Given the description of an element on the screen output the (x, y) to click on. 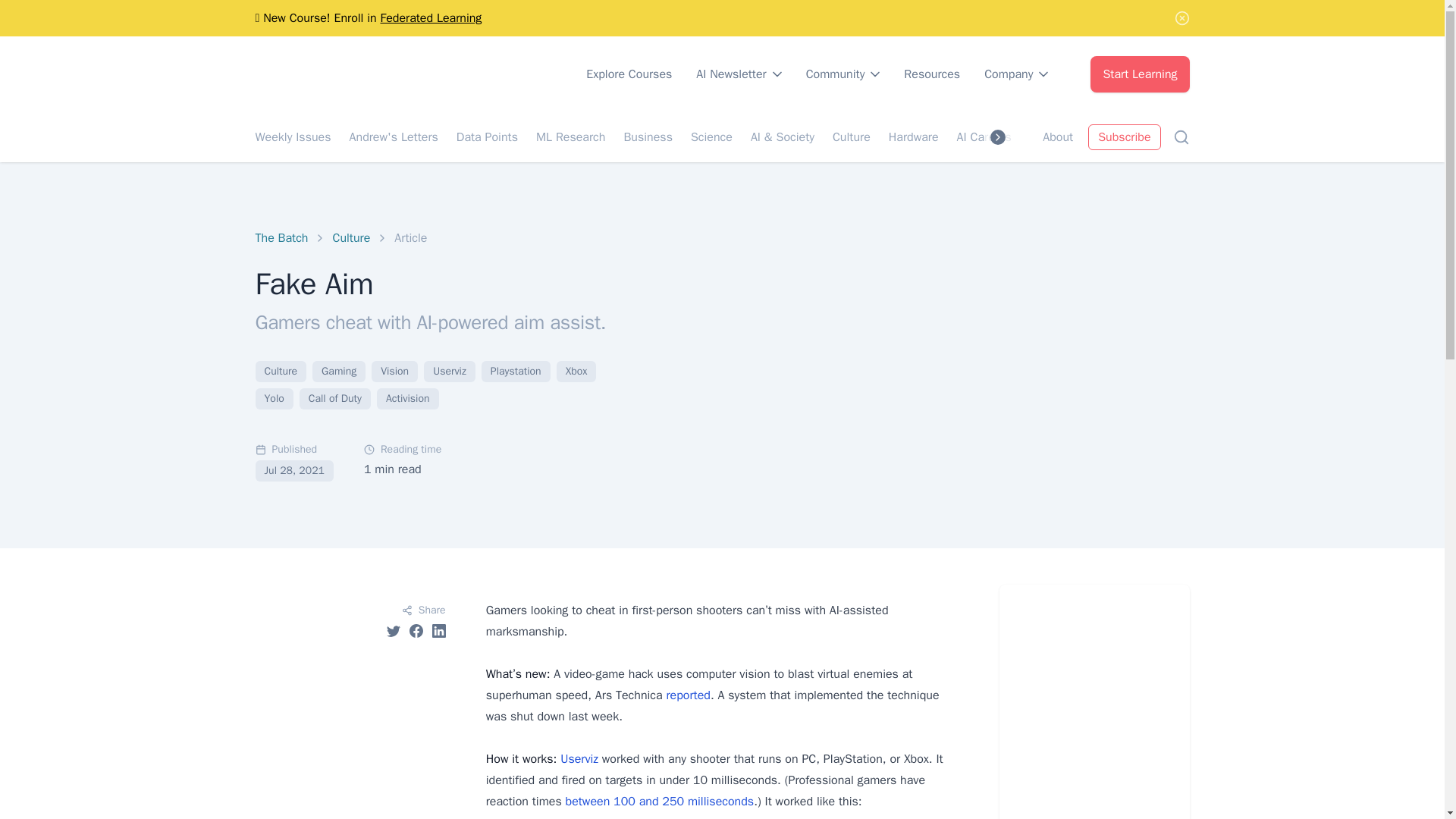
AI Newsletter (738, 74)
Weekly Issues (292, 137)
Andrew's Letters (393, 137)
The Batch (280, 238)
Explore Courses (628, 74)
Hardware (913, 137)
Resources (931, 74)
Search (1180, 136)
Subscribe (1123, 136)
Company (1015, 74)
Start Learning (1139, 74)
Business (647, 137)
Article (410, 238)
Community (842, 74)
Data Points (487, 137)
